Given the description of an element on the screen output the (x, y) to click on. 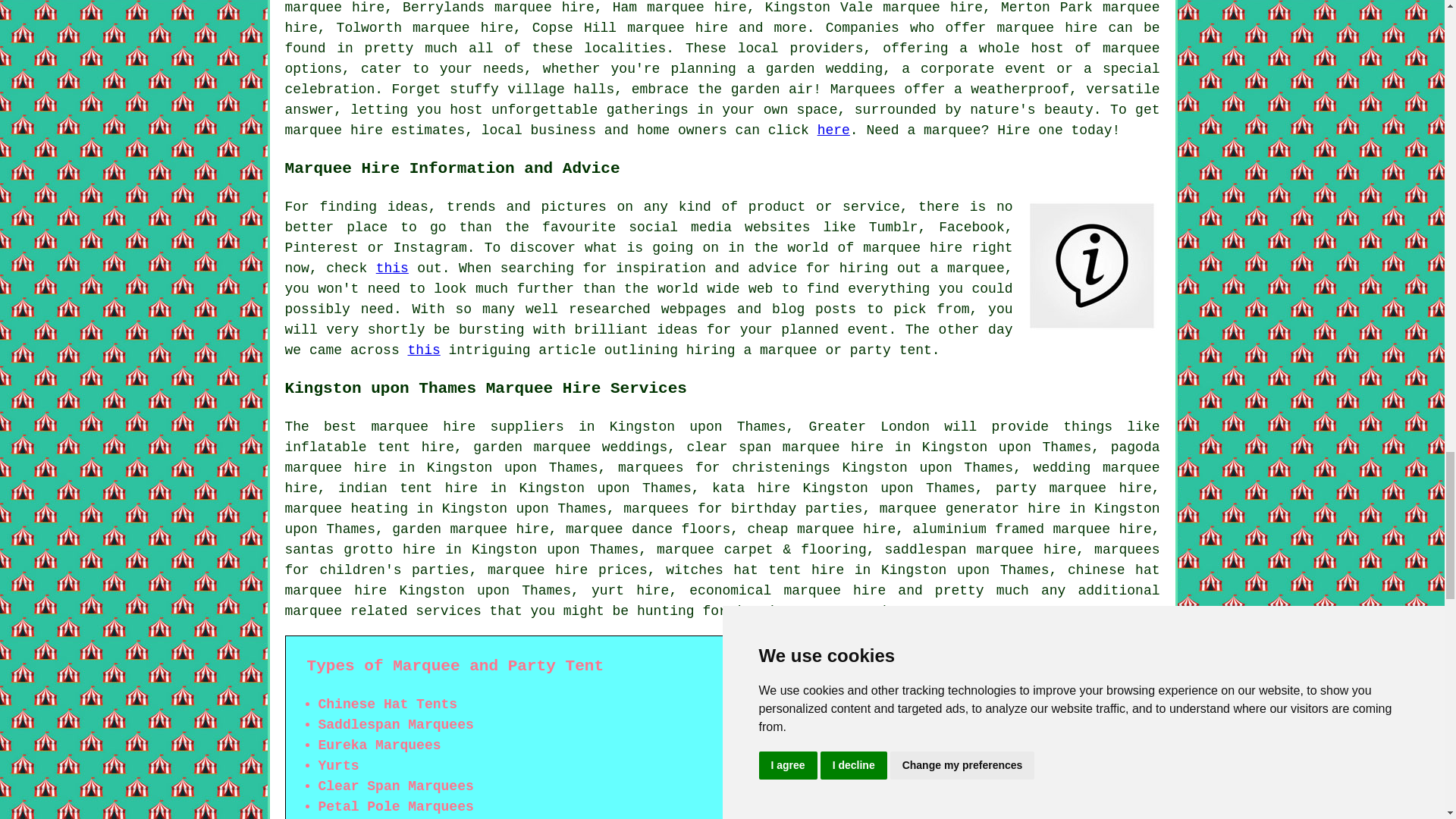
Marquee Hire Advice Kingston upon Thames (1091, 265)
marquee (1131, 48)
marquee hire (1046, 28)
